Given the description of an element on the screen output the (x, y) to click on. 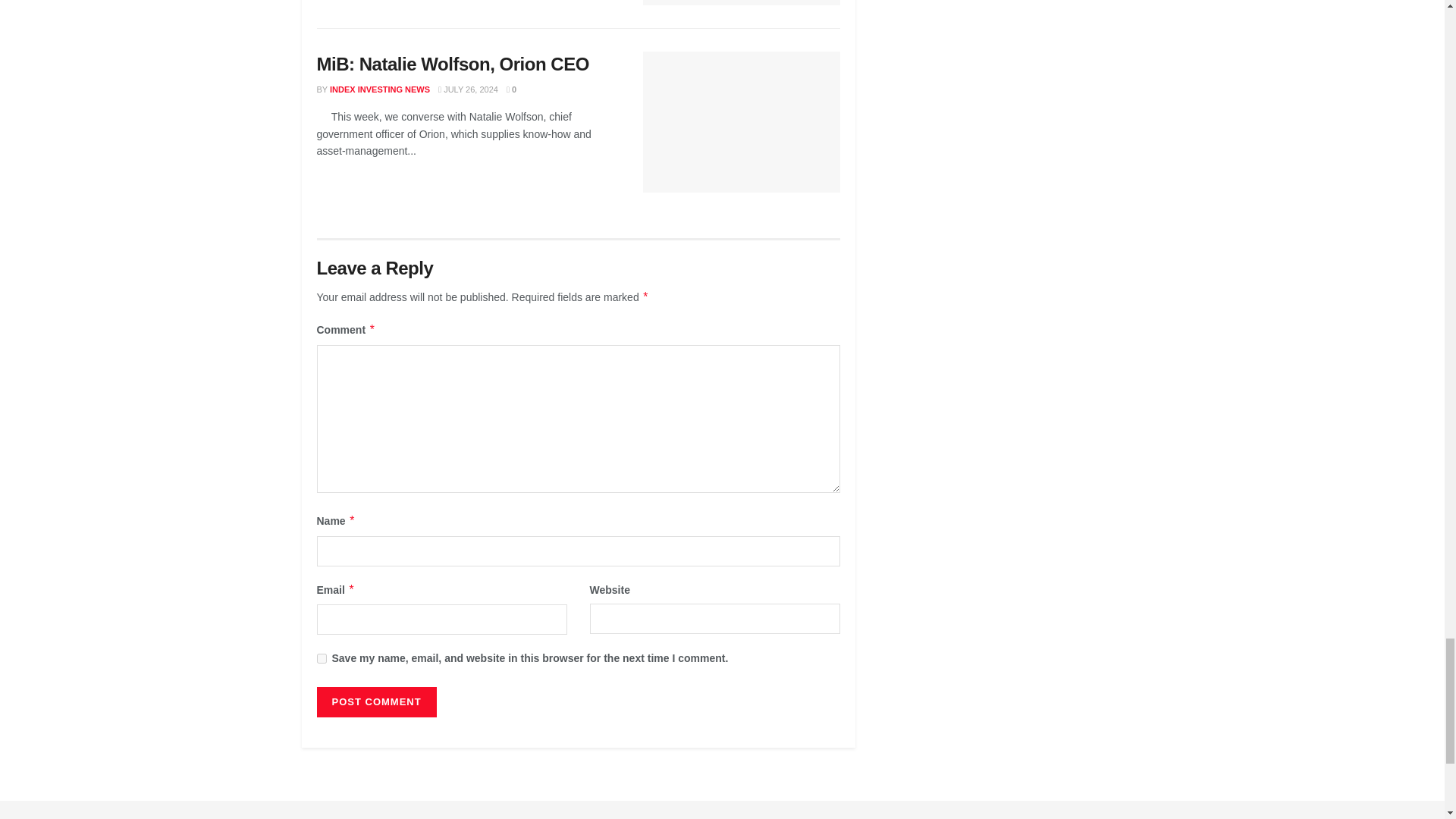
yes (321, 658)
Post Comment (376, 702)
